Given the description of an element on the screen output the (x, y) to click on. 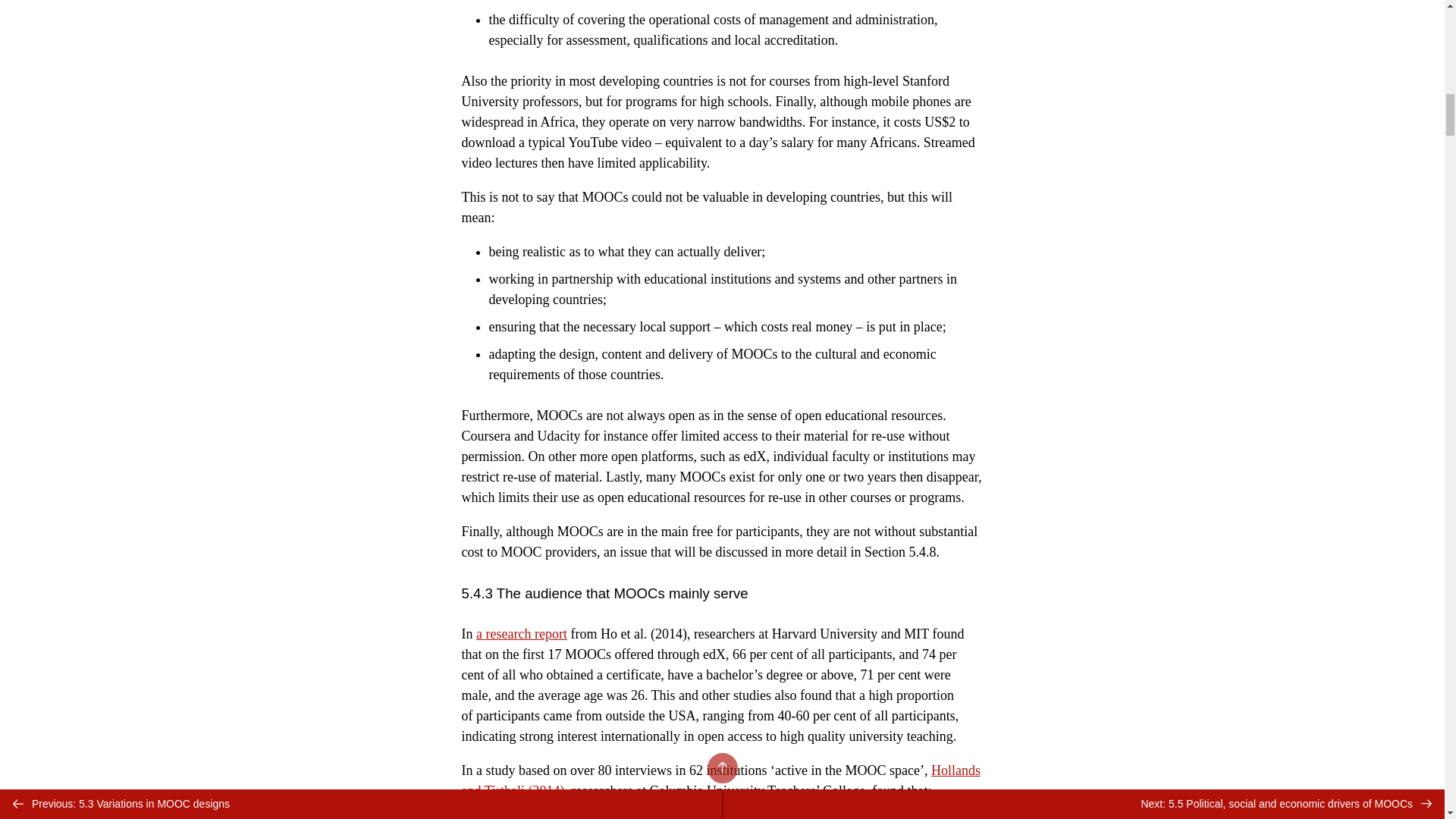
a research report (521, 633)
